Given the description of an element on the screen output the (x, y) to click on. 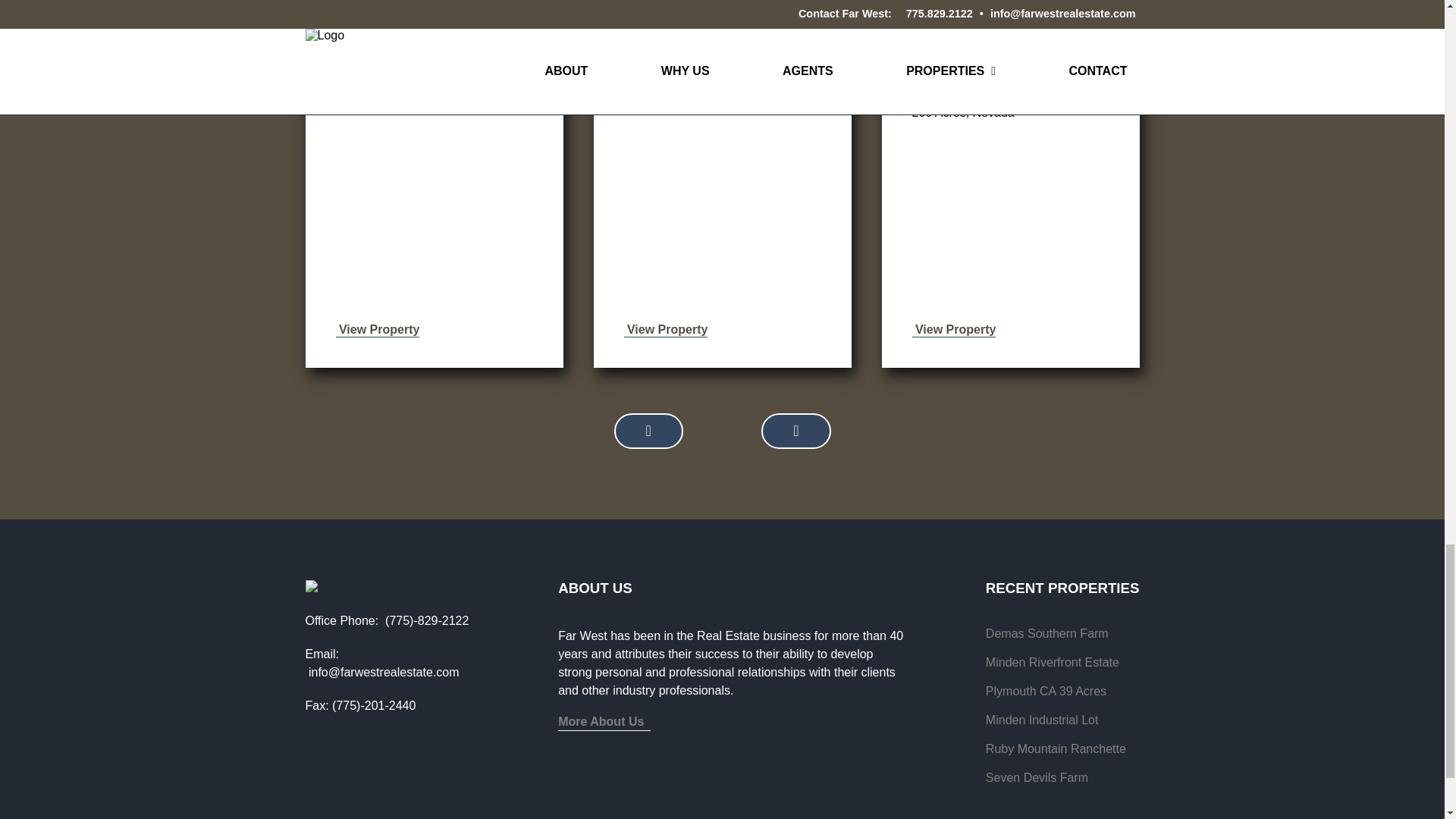
Demas Southern Farm (1046, 633)
Seven Devils Farm (1036, 777)
Plymouth CA 39 Acres (1045, 691)
 View Property (953, 329)
More About Us   (603, 722)
Minden Riverfront Estate (1052, 662)
Minden Industrial Lot (1042, 720)
 View Property (665, 329)
Ruby Mountain Ranchette (1055, 748)
 View Property (376, 329)
